Given the description of an element on the screen output the (x, y) to click on. 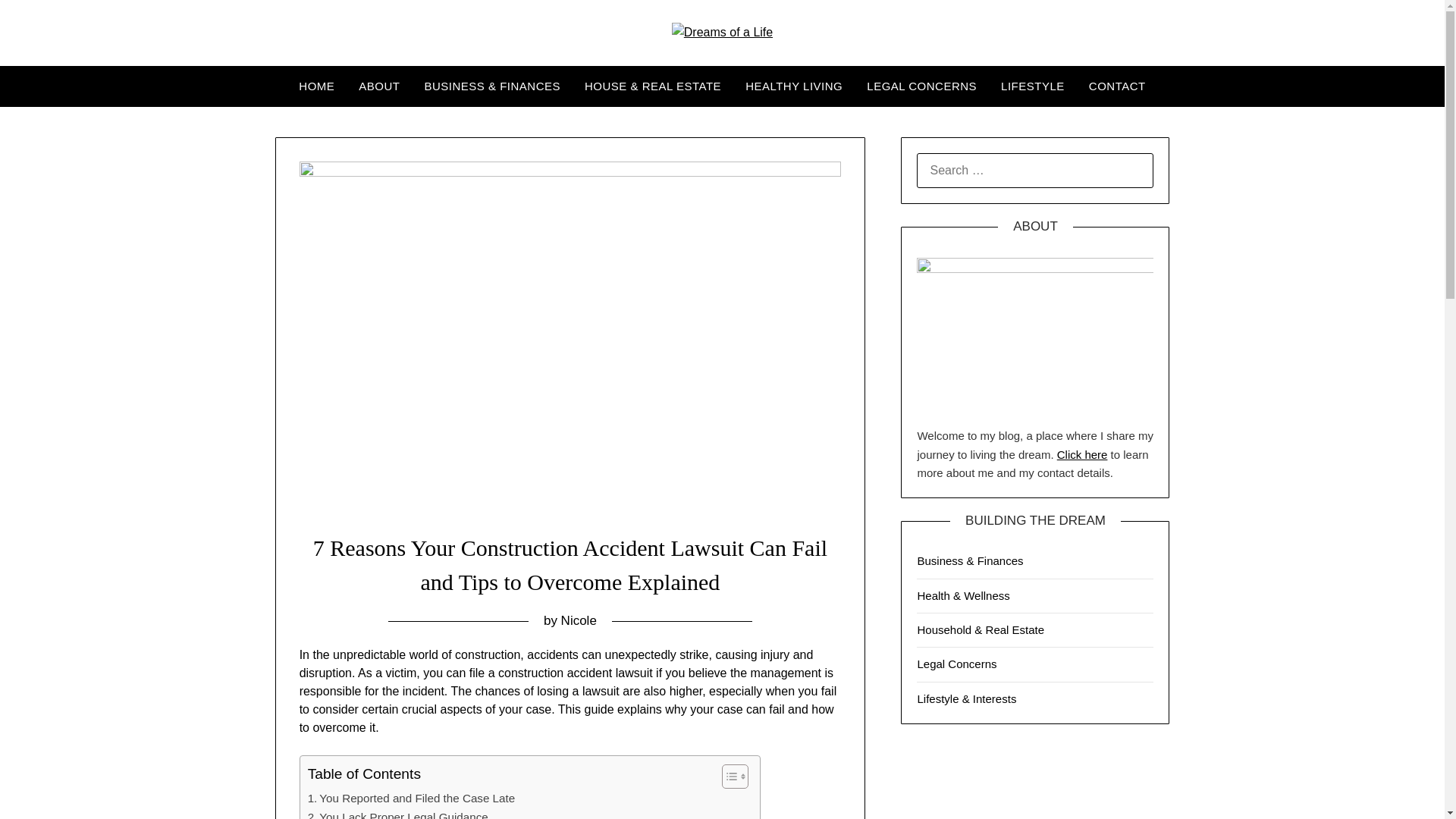
Legal Concerns (956, 663)
HOME (316, 86)
You Reported and Filed the Case Late (411, 798)
HEALTHY LIVING (793, 86)
Search (38, 22)
LEGAL CONCERNS (921, 86)
You Reported and Filed the Case Late (411, 798)
You Lack Proper Legal Guidance (397, 813)
You Lack Proper Legal Guidance (397, 813)
CONTACT (1117, 86)
Click here (1082, 454)
ABOUT (379, 86)
Nicole (578, 620)
LIFESTYLE (1032, 86)
